Given the description of an element on the screen output the (x, y) to click on. 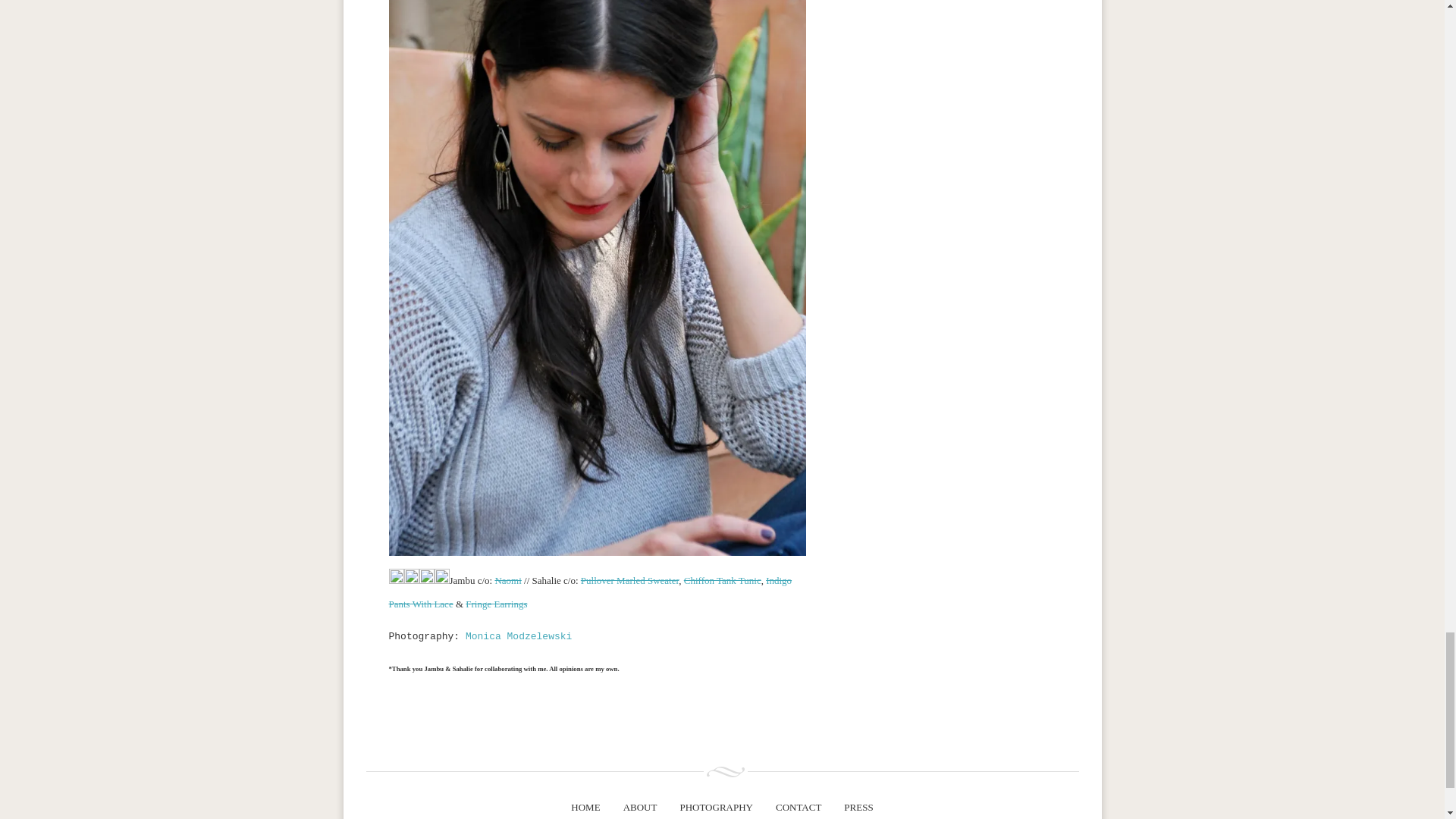
Pullover Marled Sweater (629, 580)
Monica Modzelewski (518, 636)
Indigo Pants With Lace (590, 591)
Chiffon Tank Tunic (722, 580)
Naomi (508, 580)
Fringe Earrings (496, 603)
